Given the description of an element on the screen output the (x, y) to click on. 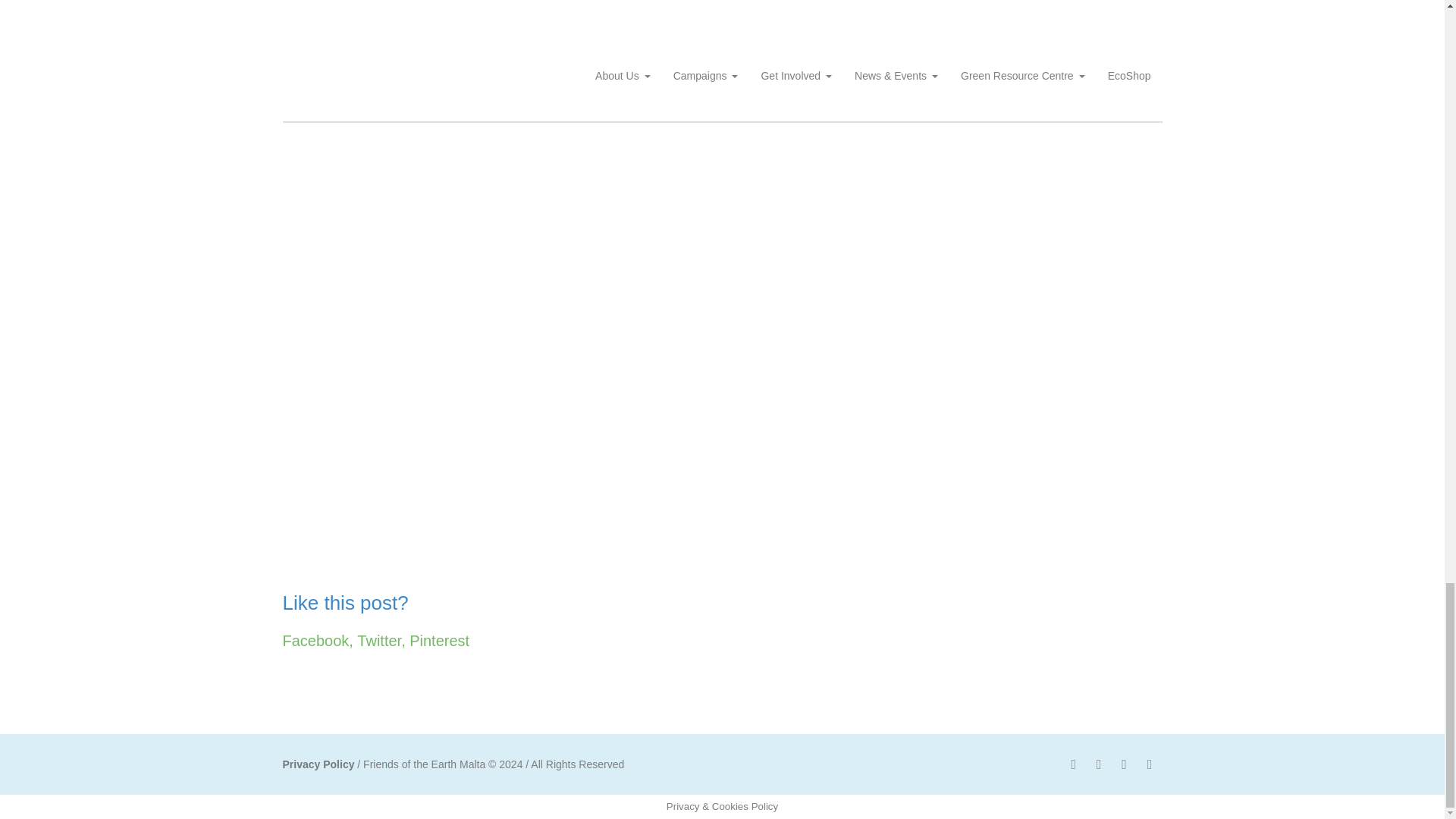
Instagram (1149, 764)
YouTube (1124, 764)
Twitter (1098, 764)
Facebook (1073, 764)
